Given the description of an element on the screen output the (x, y) to click on. 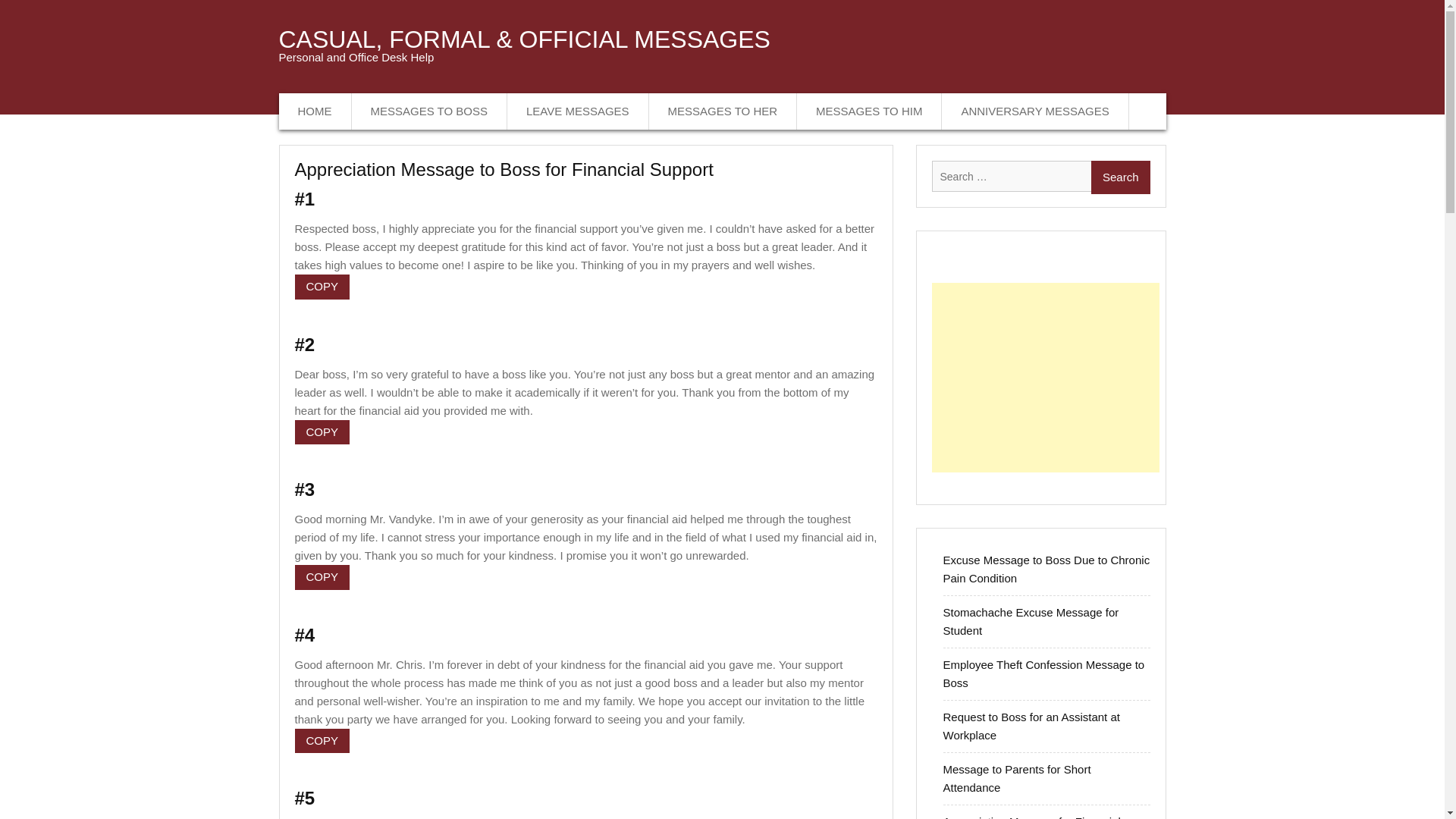
Excuse Message to Boss Due to Chronic Pain Condition (1046, 568)
HOME (315, 111)
MESSAGES TO BOSS (430, 111)
Search (1120, 177)
ANNIVERSARY MESSAGES (1035, 111)
Employee Theft Confession Message to Boss (1043, 673)
COPY (321, 286)
Request to Boss for an Assistant at Workplace (1031, 726)
MESSAGES TO HER (723, 111)
COPY (321, 740)
Appreciation Message for Financial Support (1032, 816)
Message to Parents for Short Attendance (1016, 777)
Search (1120, 177)
LEAVE MESSAGES (577, 111)
COPY (321, 577)
